Given the description of an element on the screen output the (x, y) to click on. 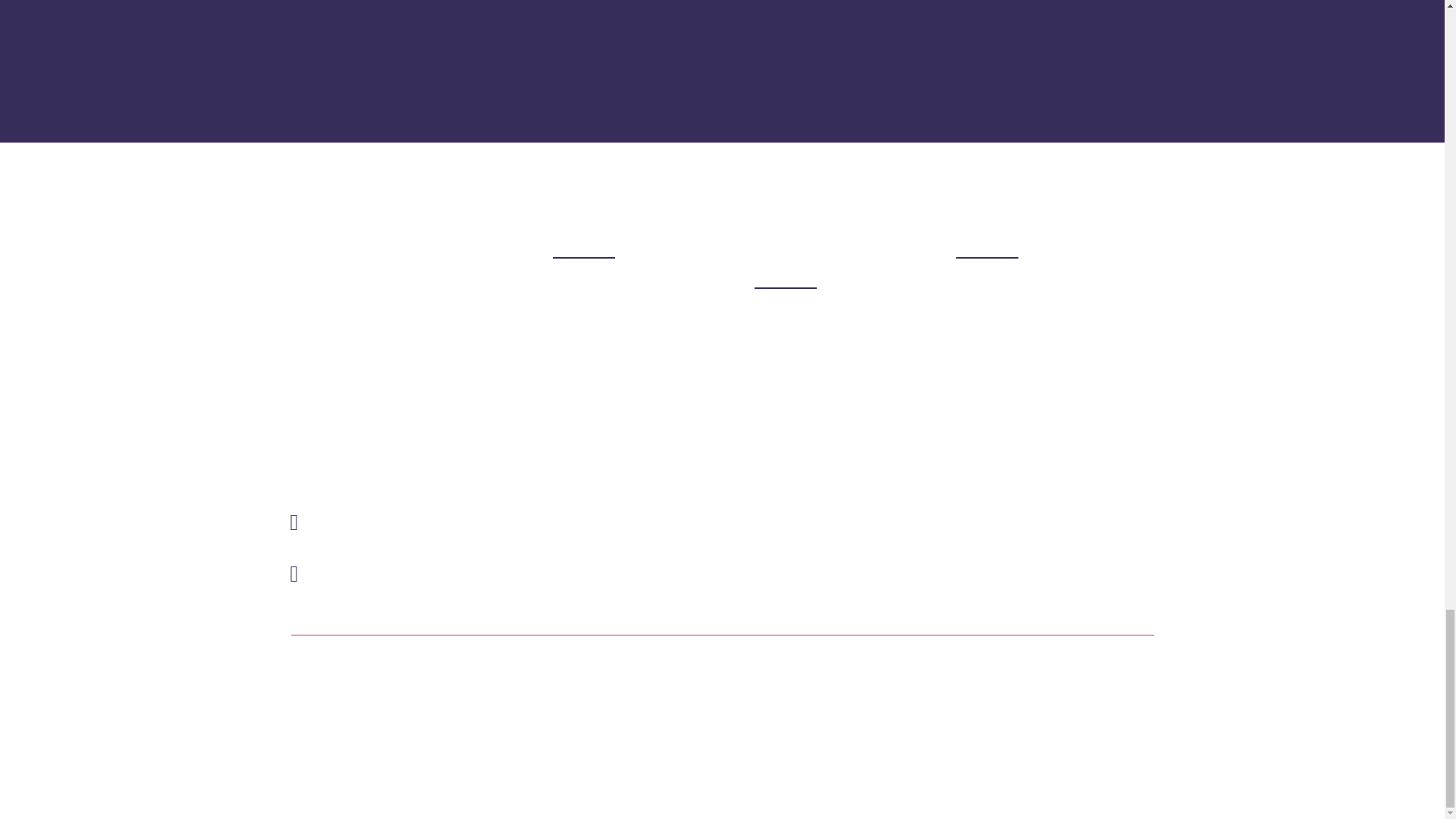
phone (293, 573)
map-marker (293, 522)
